Given the description of an element on the screen output the (x, y) to click on. 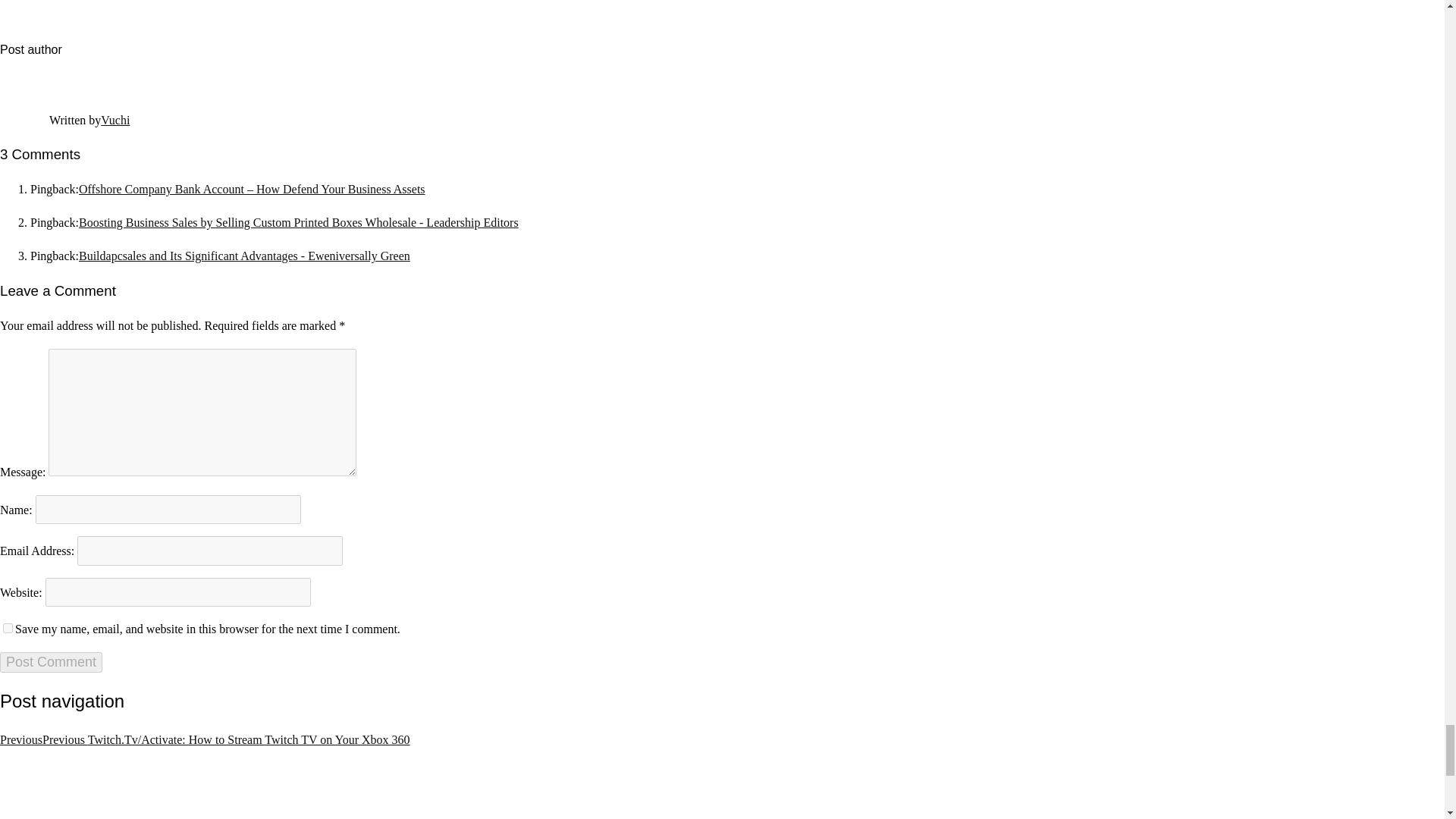
Post Comment (50, 661)
Posts by Vuchi (114, 119)
yes (7, 628)
